Given the description of an element on the screen output the (x, y) to click on. 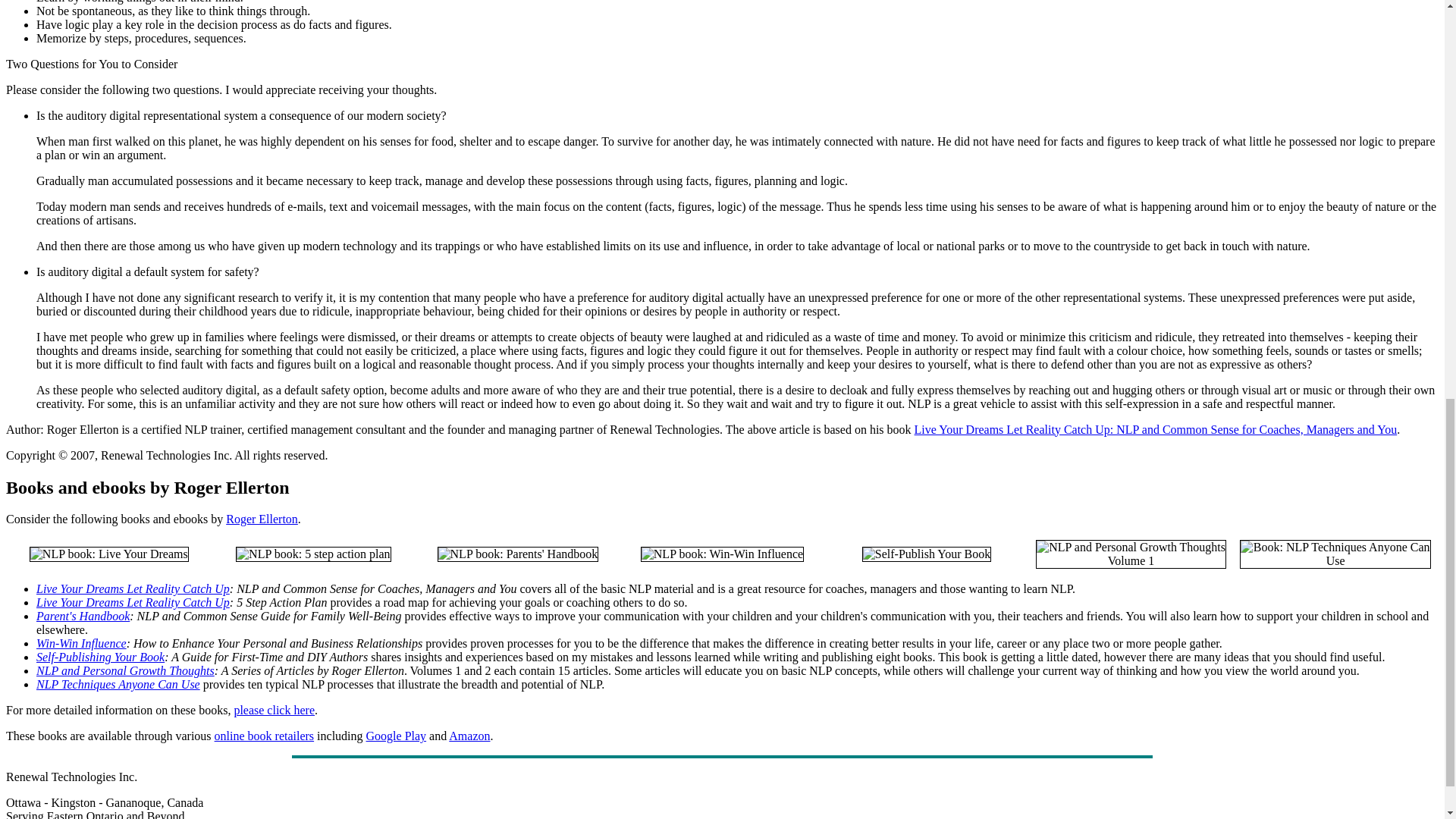
NLP techniques (1335, 553)
Best NLP book for parents and their kids (518, 554)
Live Your Dreams Let Reality Catch Up (133, 602)
Live Your Dreams Let Reality Catch Up (133, 588)
NLP and Personal Growth Thoughts (125, 670)
Best NLP book for beginners (109, 554)
Self-Publish Your Book (926, 554)
Parent's Handbook (82, 615)
NLP book achieve your dreams (313, 554)
Amazon (468, 735)
Roger Ellerton (261, 518)
Self-Publishing Your Book (100, 656)
Best NLP book for Influence and Persuasion (721, 554)
online book retailers (264, 735)
